Given the description of an element on the screen output the (x, y) to click on. 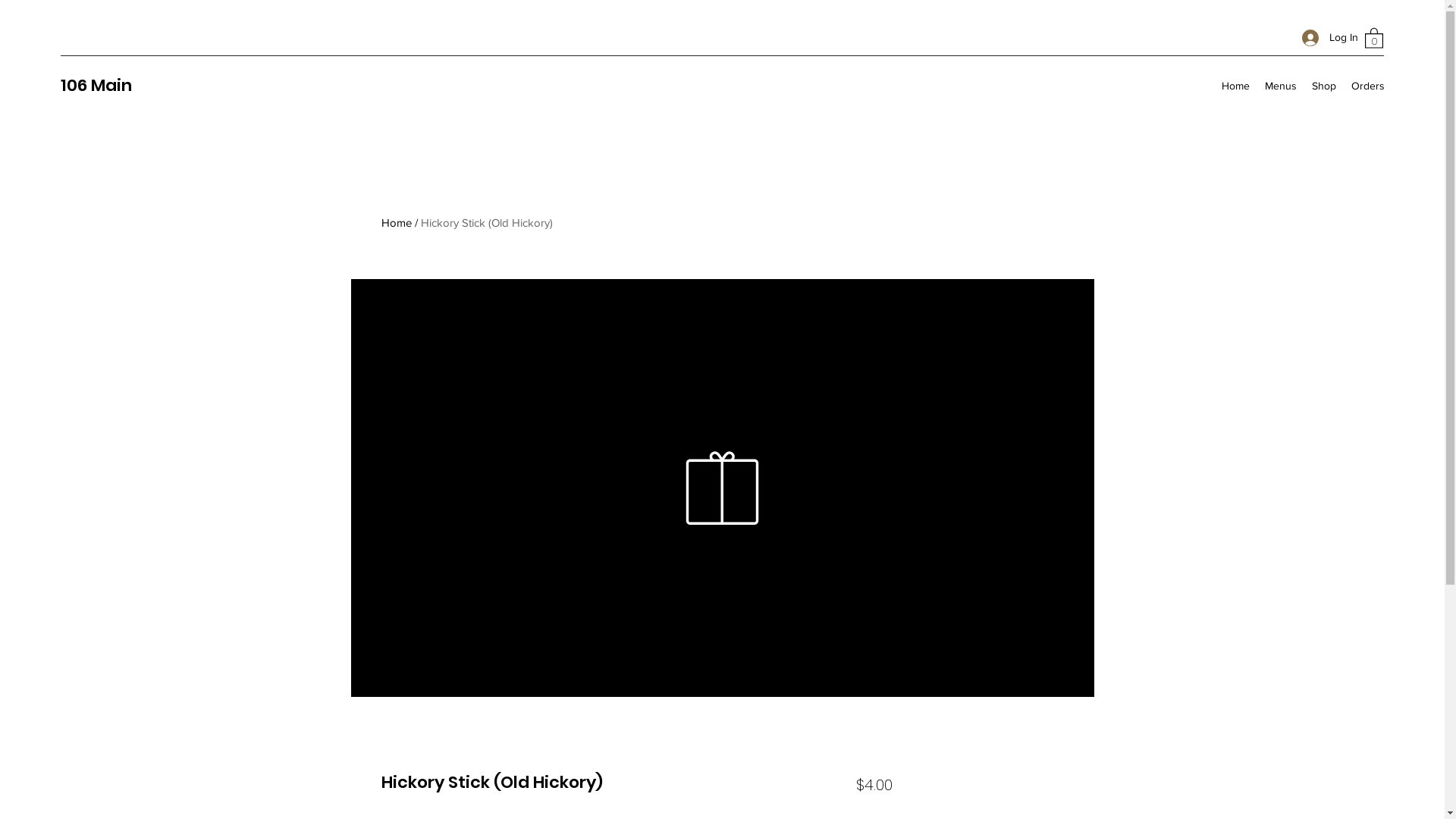
106 Main Element type: text (95, 85)
Log In Element type: text (1325, 37)
Orders Element type: text (1367, 85)
Shop Element type: text (1323, 85)
Home Element type: text (395, 222)
0 Element type: text (1374, 37)
Home Element type: text (1235, 85)
Menus Element type: text (1280, 85)
